Given the description of an element on the screen output the (x, y) to click on. 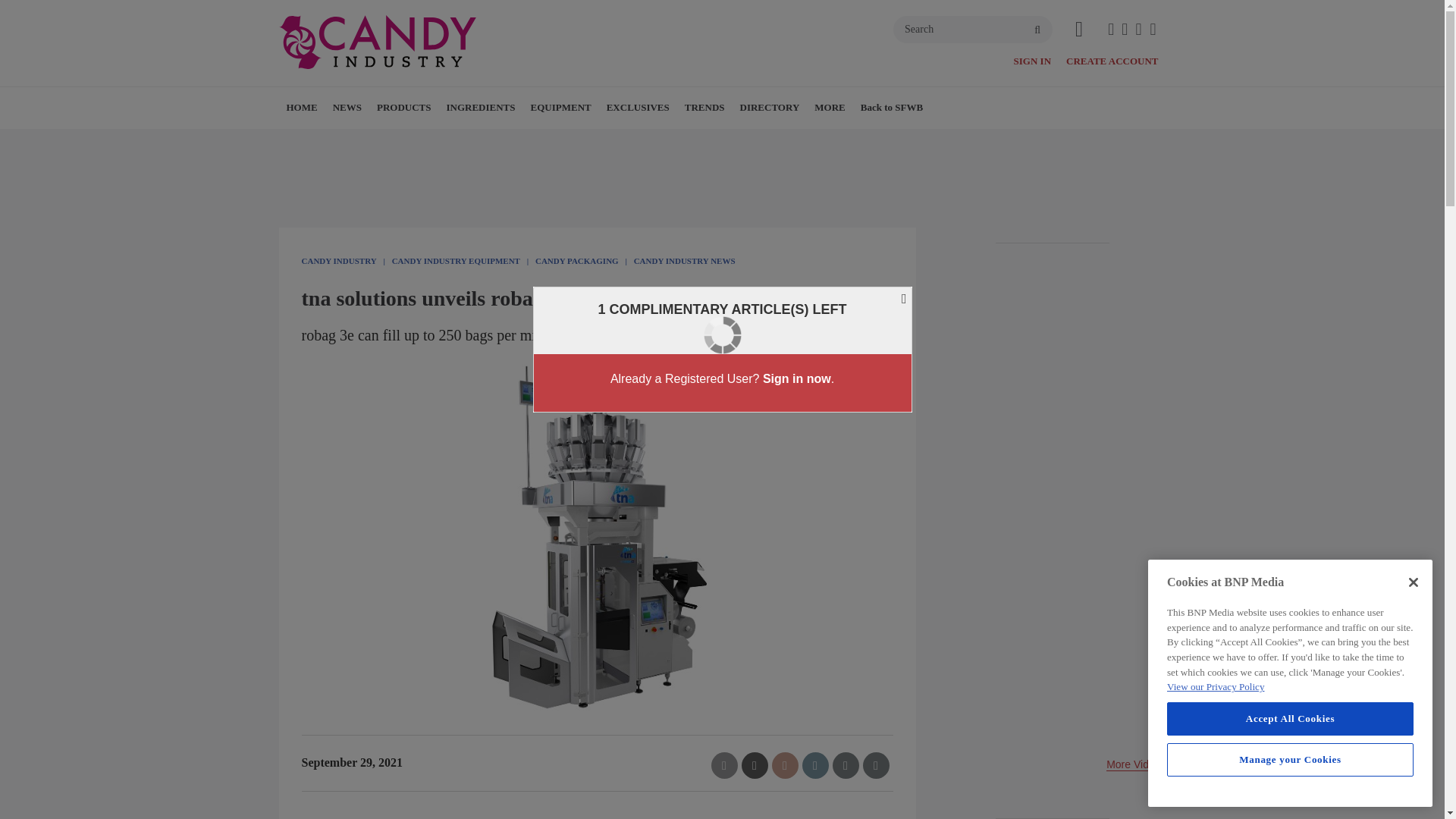
Search (972, 29)
Search (972, 29)
